Given the description of an element on the screen output the (x, y) to click on. 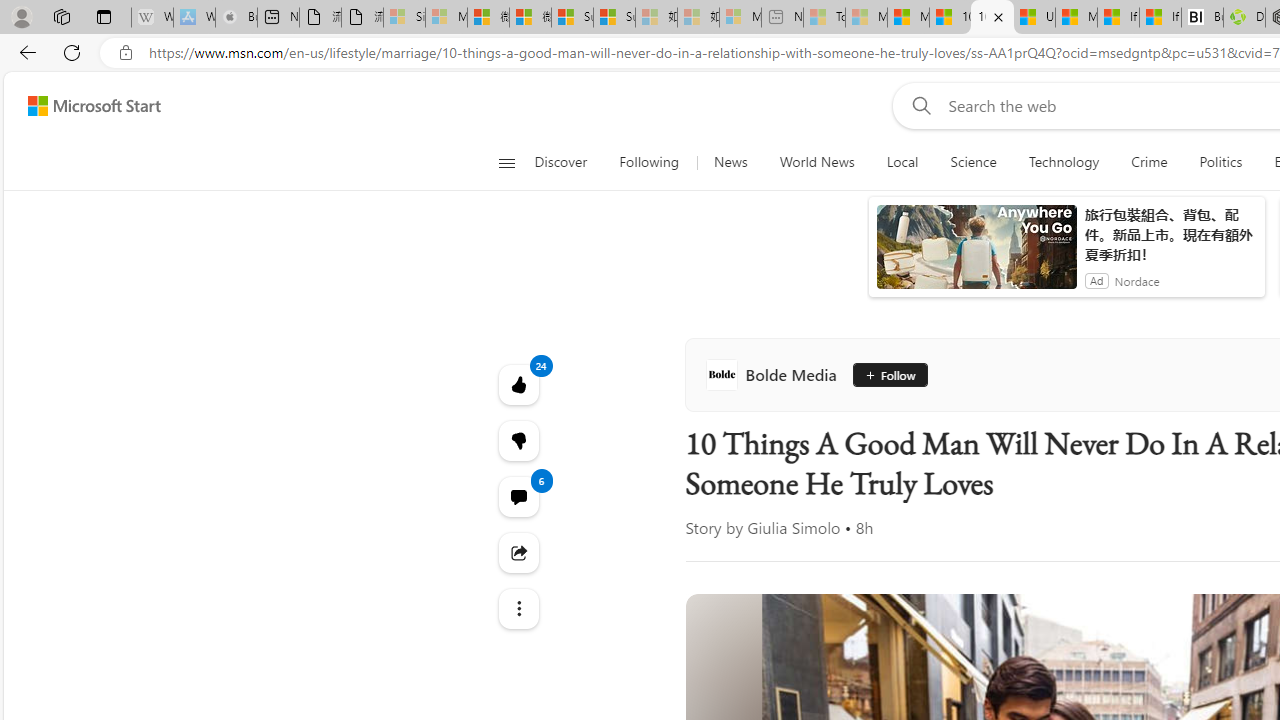
Share this story (517, 552)
Ad (1096, 280)
Politics (1220, 162)
New tab - Sleeping (781, 17)
